Given the description of an element on the screen output the (x, y) to click on. 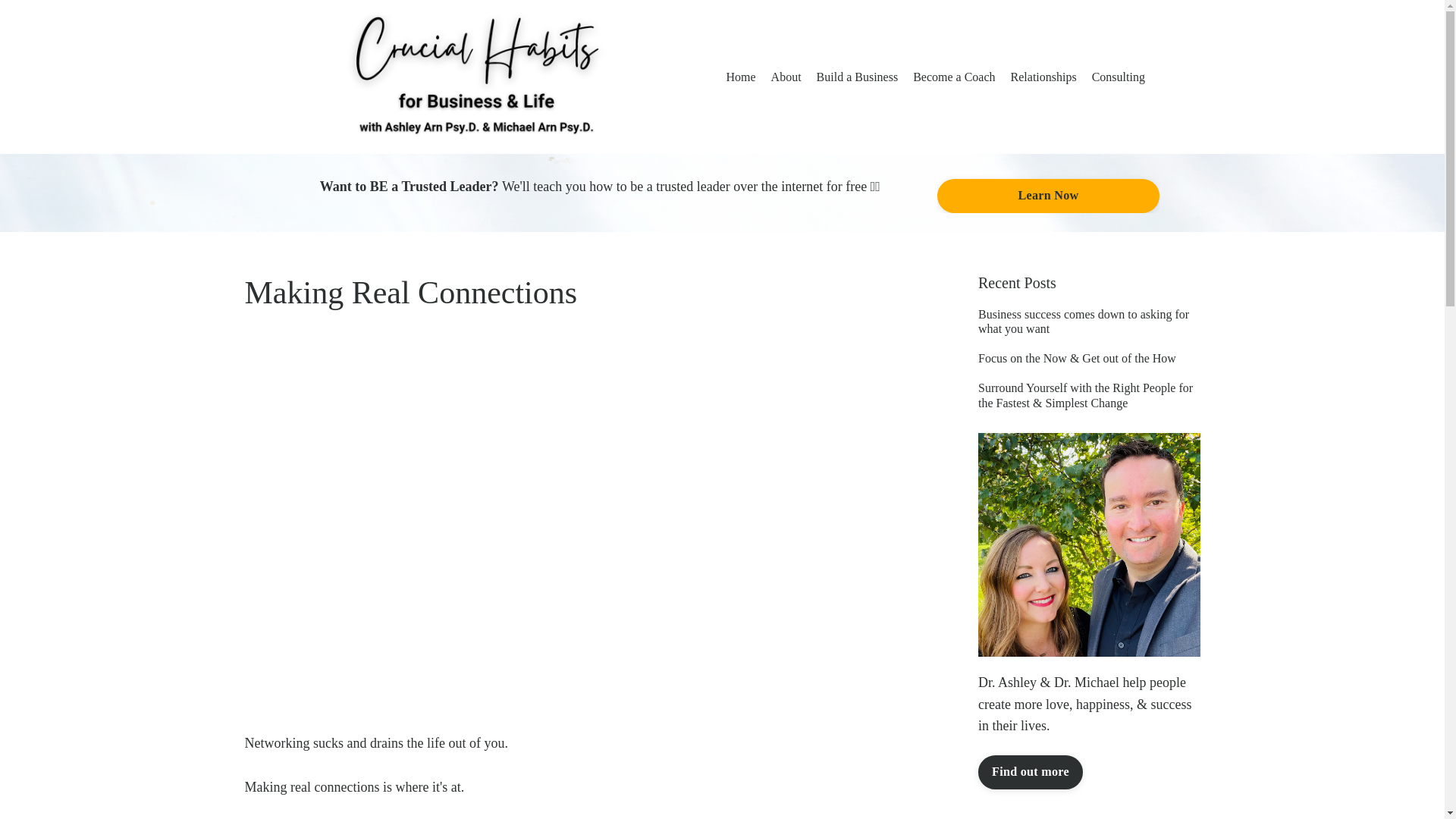
Home (740, 76)
About (786, 76)
Relationships (1043, 76)
Consulting (1118, 76)
Business success comes down to asking for what you want (1088, 321)
Learn Now (1047, 195)
Build a Business (857, 76)
Find out more (1030, 771)
Become a Coach (953, 76)
